Given the description of an element on the screen output the (x, y) to click on. 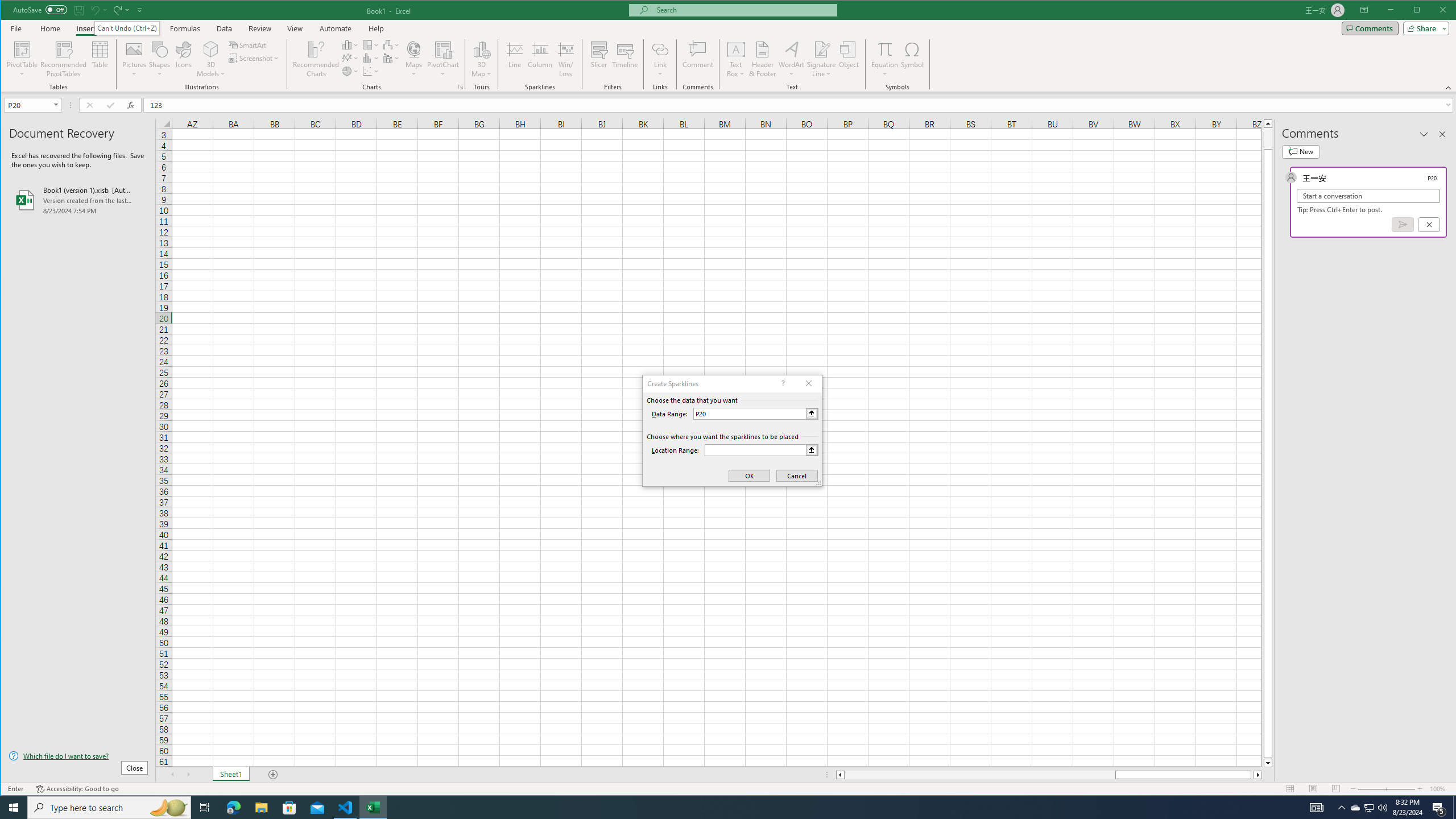
Link (659, 48)
Draw Horizontal Text Box (735, 48)
Insert Line or Area Chart (350, 57)
Line (514, 59)
Icons (183, 59)
Start a conversation (1368, 195)
Post comment (Ctrl + Enter) (1402, 224)
